Given the description of an element on the screen output the (x, y) to click on. 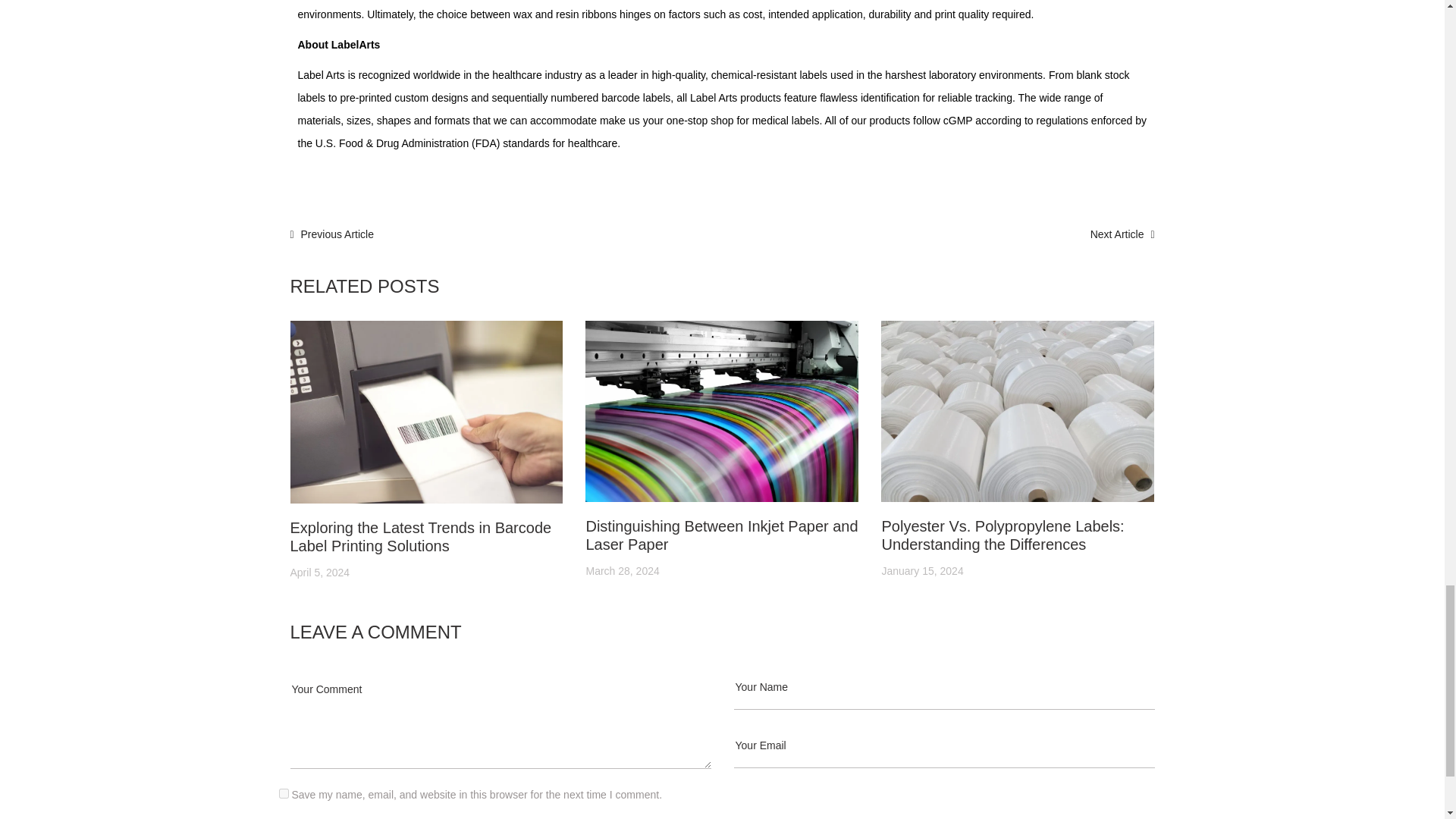
Previous Article (331, 234)
yes (283, 793)
Next Article (1122, 234)
Distinguishing Between Inkjet Paper and Laser Paper (721, 534)
